Given the description of an element on the screen output the (x, y) to click on. 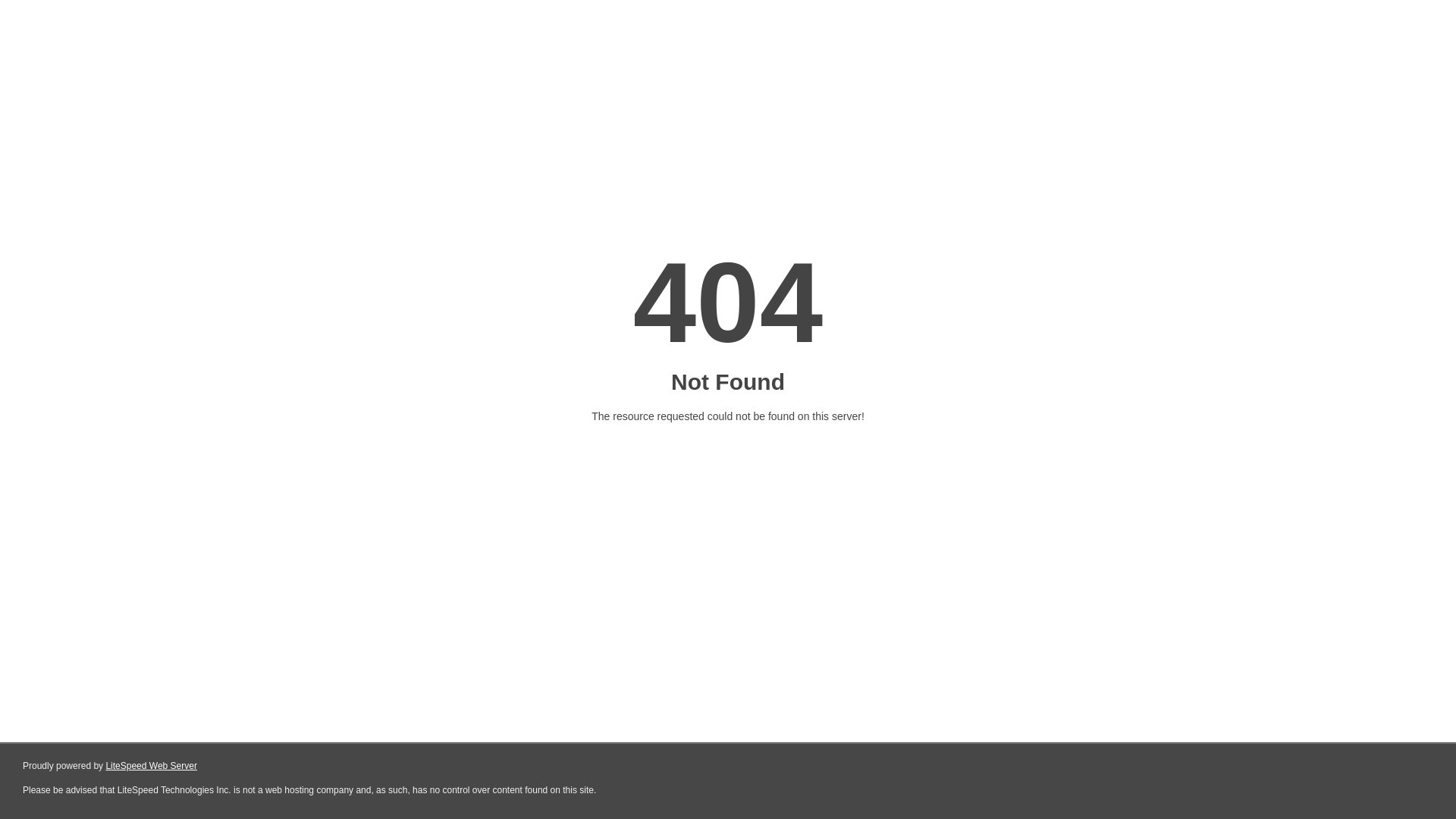
LiteSpeed Web Server Element type: text (151, 765)
